Given the description of an element on the screen output the (x, y) to click on. 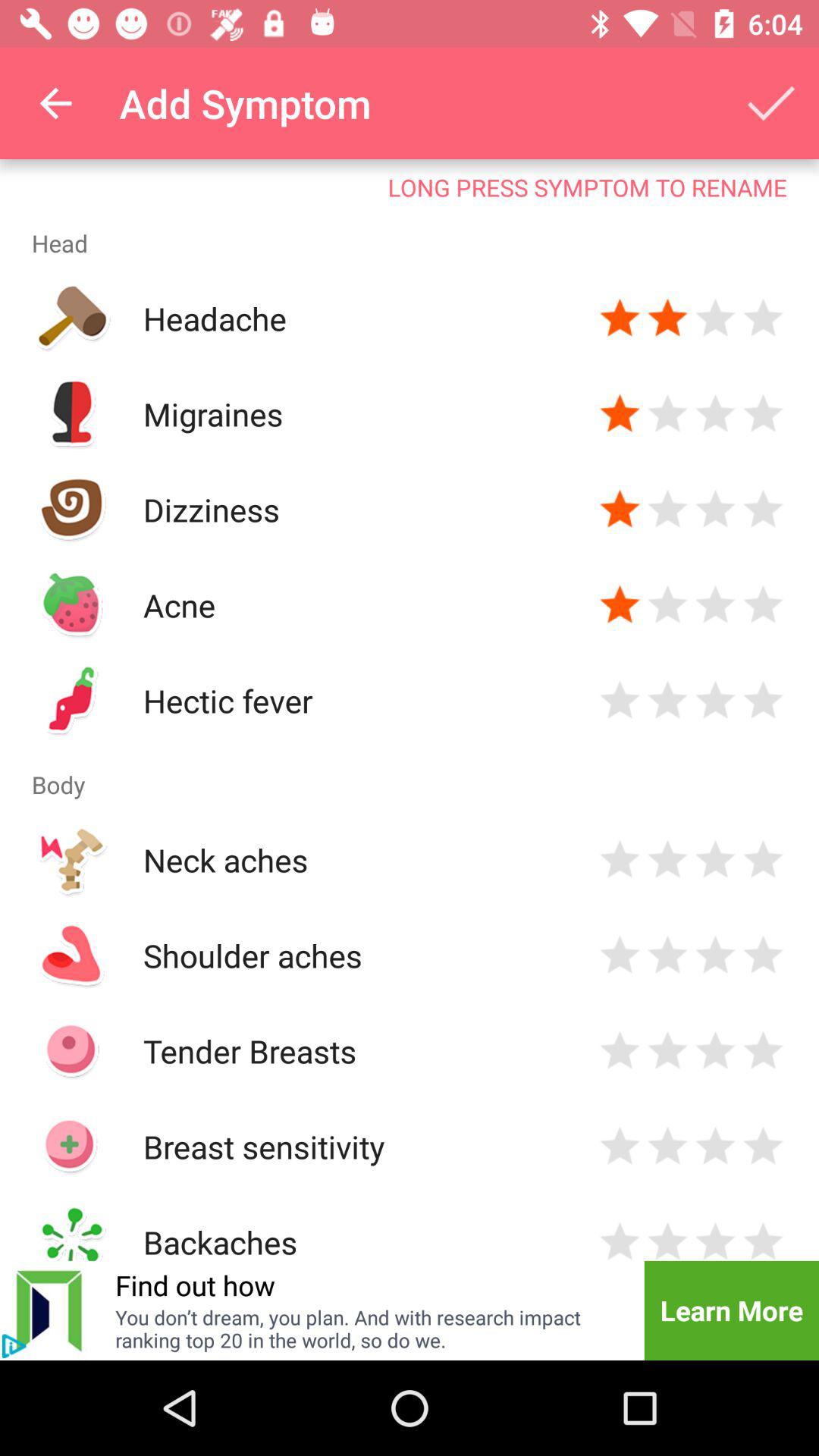
rate symptom severity (619, 955)
